Given the description of an element on the screen output the (x, y) to click on. 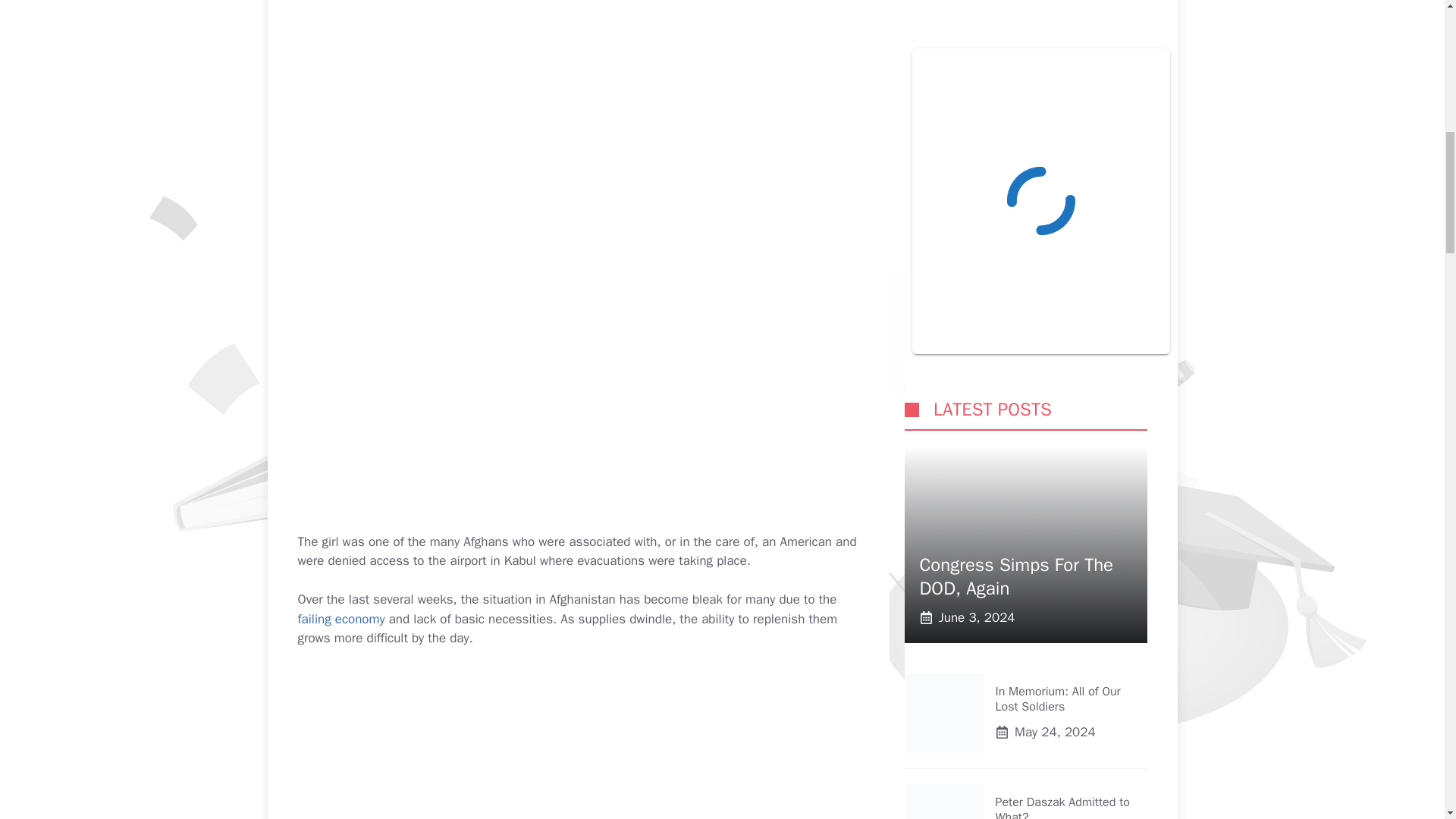
Subscribe to our newsletter (922, 452)
failing economy (340, 618)
78EEF8CC-26CA-4992-A8A6-CF9761B4213E.mp4 (578, 743)
Submit (939, 501)
